Given the description of an element on the screen output the (x, y) to click on. 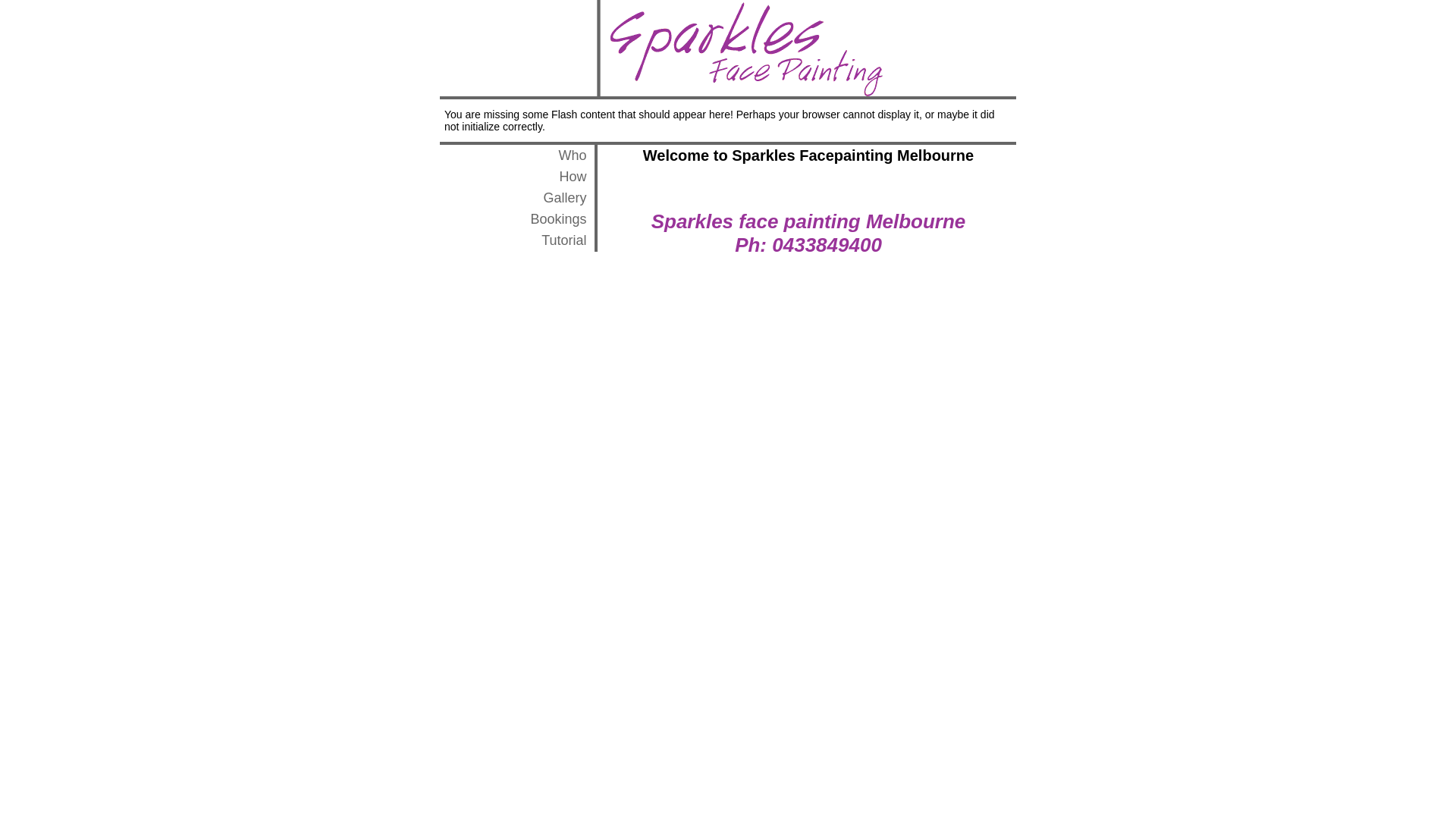
How Element type: text (572, 176)
Gallery Element type: text (564, 197)
Who Element type: text (572, 155)
Tutorial Element type: text (563, 239)
Bookings Element type: text (558, 218)
